Given the description of an element on the screen output the (x, y) to click on. 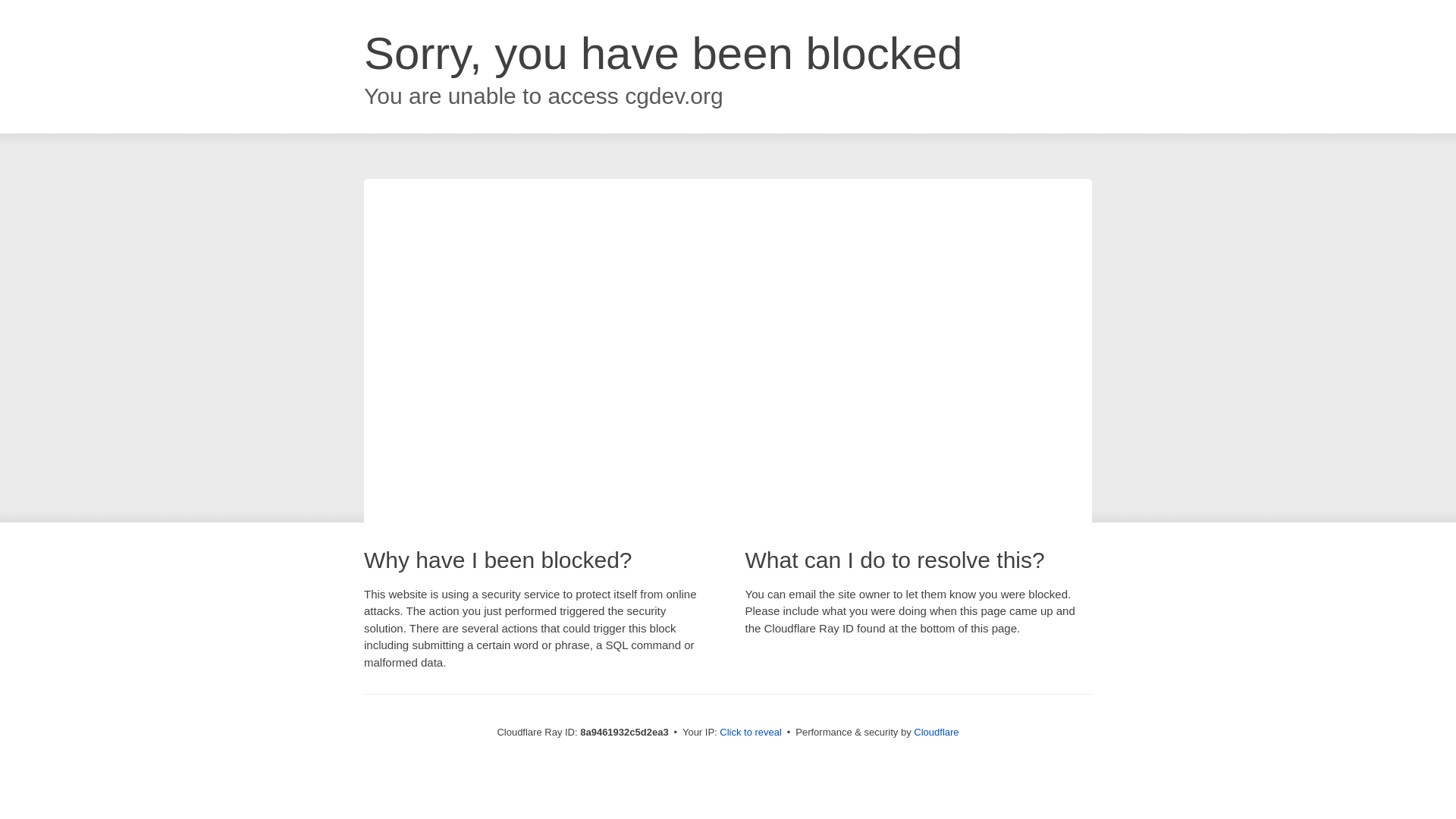
Click to reveal (750, 732)
Cloudflare (936, 731)
